Given the description of an element on the screen output the (x, y) to click on. 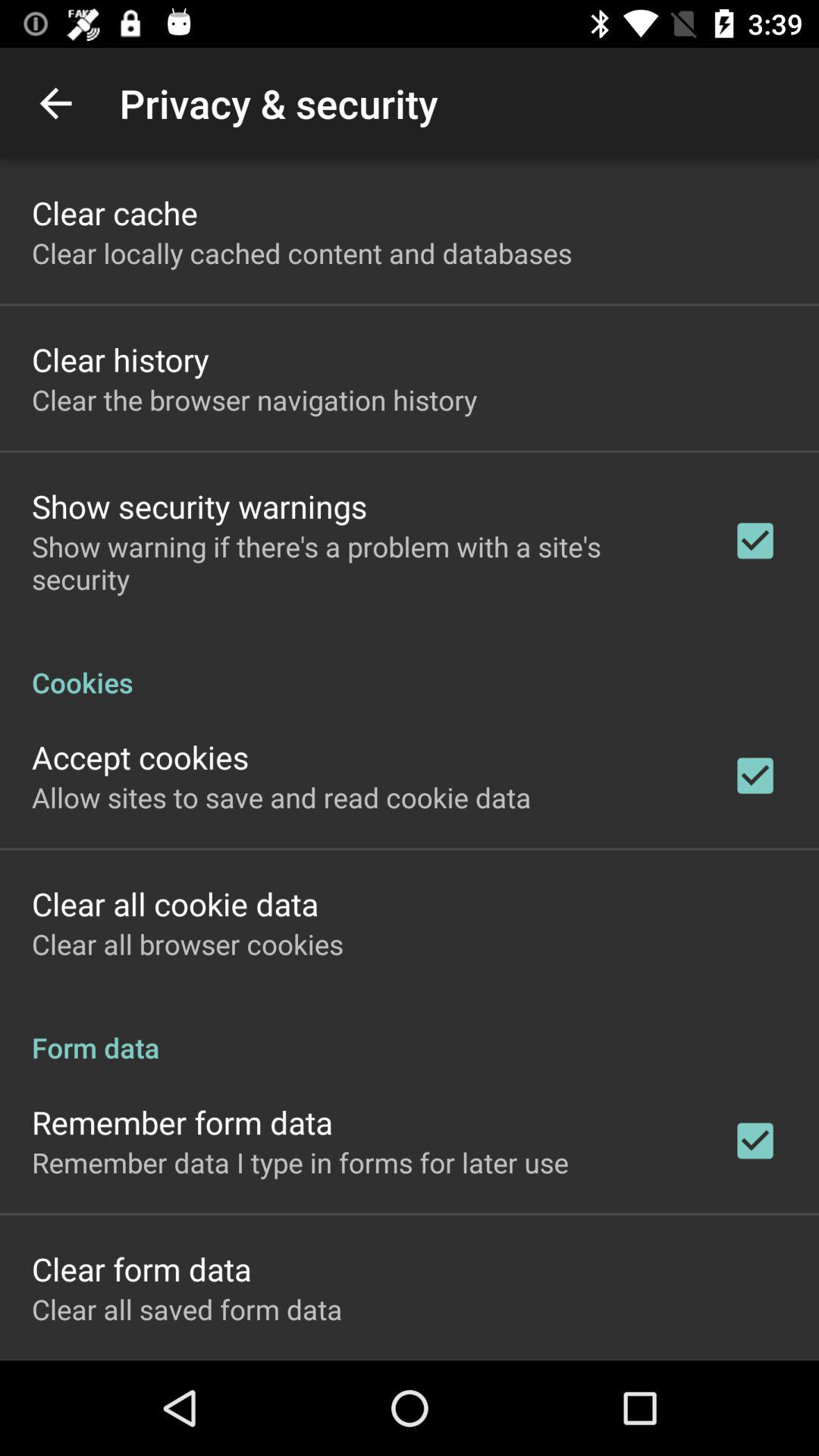
open the icon above the clear all cookie (281, 797)
